Given the description of an element on the screen output the (x, y) to click on. 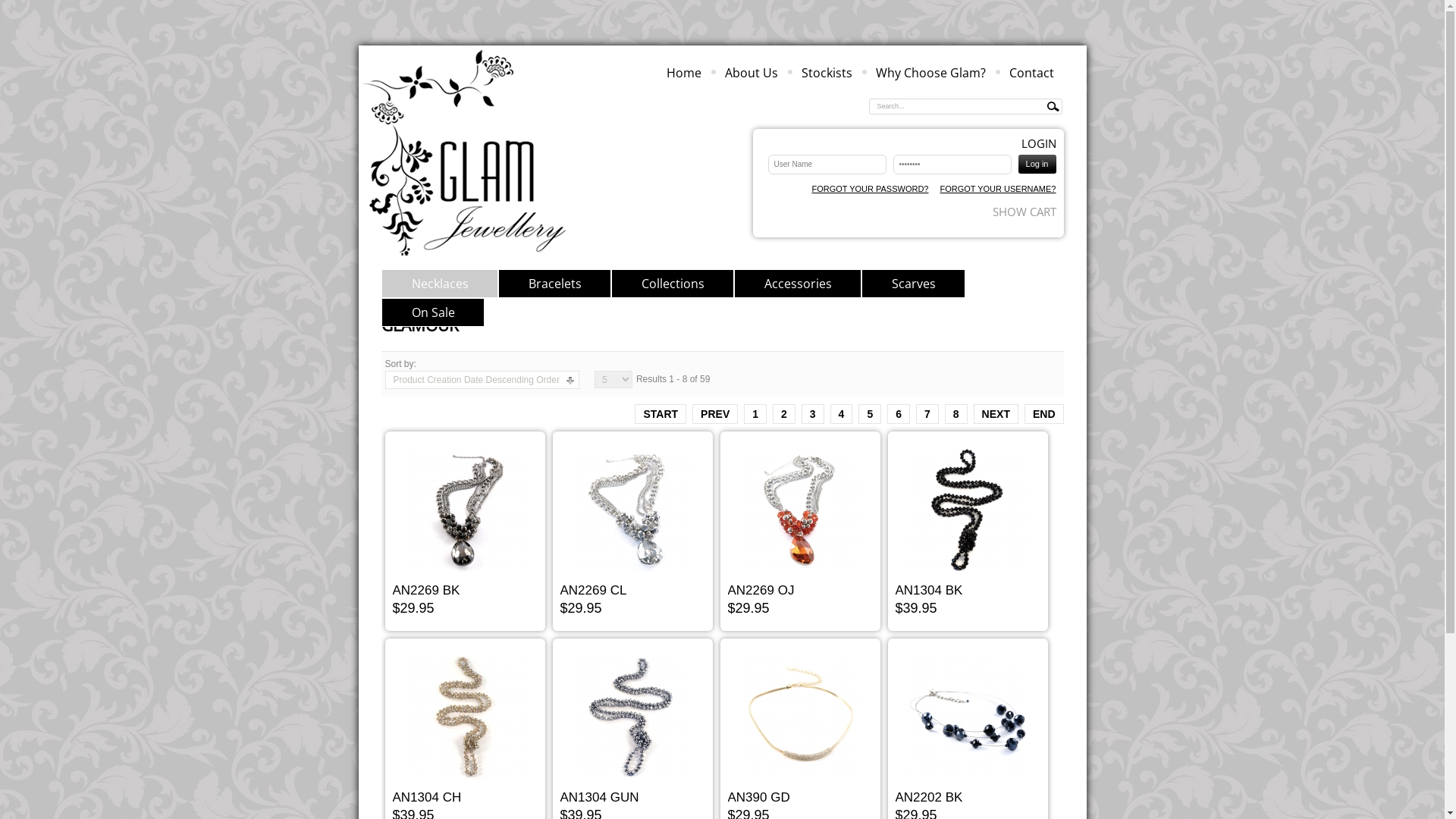
AN1304 CH Element type: text (426, 797)
AN2269 OJ Element type: text (761, 590)
Necklaces Element type: text (438, 283)
Collections Element type: text (672, 283)
Home Element type: text (682, 72)
8 Element type: text (956, 413)
Bracelets Element type: text (553, 283)
Contact Element type: text (1030, 72)
Stockists Element type: text (825, 72)
6 Element type: text (898, 413)
Log in Element type: text (1037, 163)
FORGOT YOUR PASSWORD? Element type: text (869, 189)
7 Element type: text (927, 413)
AN2269 CL Element type: text (592, 590)
Accessories Element type: text (797, 283)
Glam Jewellery Element type: hover (466, 155)
3 Element type: text (812, 413)
4 Element type: text (841, 413)
AN1304 BK Element type: text (928, 590)
FORGOT YOUR USERNAME? Element type: text (997, 189)
Scarves Element type: text (913, 283)
On Sale Element type: text (431, 312)
AN1304 GUN Element type: text (598, 797)
SHOW CART Element type: text (1023, 211)
AN390 GD Element type: text (759, 797)
AN2269 BK Element type: text (426, 590)
2 Element type: text (784, 413)
Why Choose Glam? Element type: text (930, 72)
END Element type: text (1043, 413)
NEXT Element type: text (996, 413)
Search Element type: text (1052, 106)
AN2202 BK Element type: text (928, 797)
5 Element type: text (869, 413)
Product Creation Date Descending Order Element type: text (475, 379)
About Us Element type: text (751, 72)
